Given the description of an element on the screen output the (x, y) to click on. 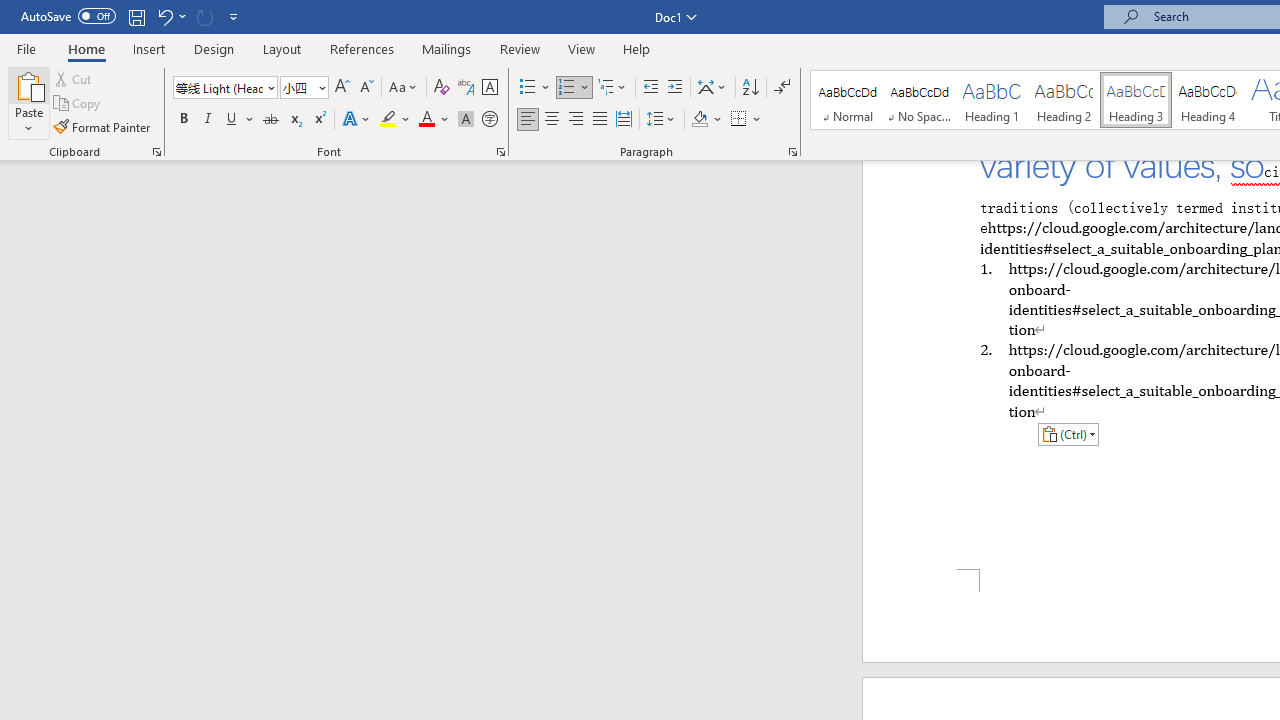
Phonetic Guide... (465, 87)
Shading (706, 119)
Shrink Font (365, 87)
Font Color (434, 119)
Superscript (319, 119)
Bold (183, 119)
Paragraph... (792, 151)
Multilevel List (613, 87)
Sort... (750, 87)
Cut (73, 78)
Strikethrough (270, 119)
